Given the description of an element on the screen output the (x, y) to click on. 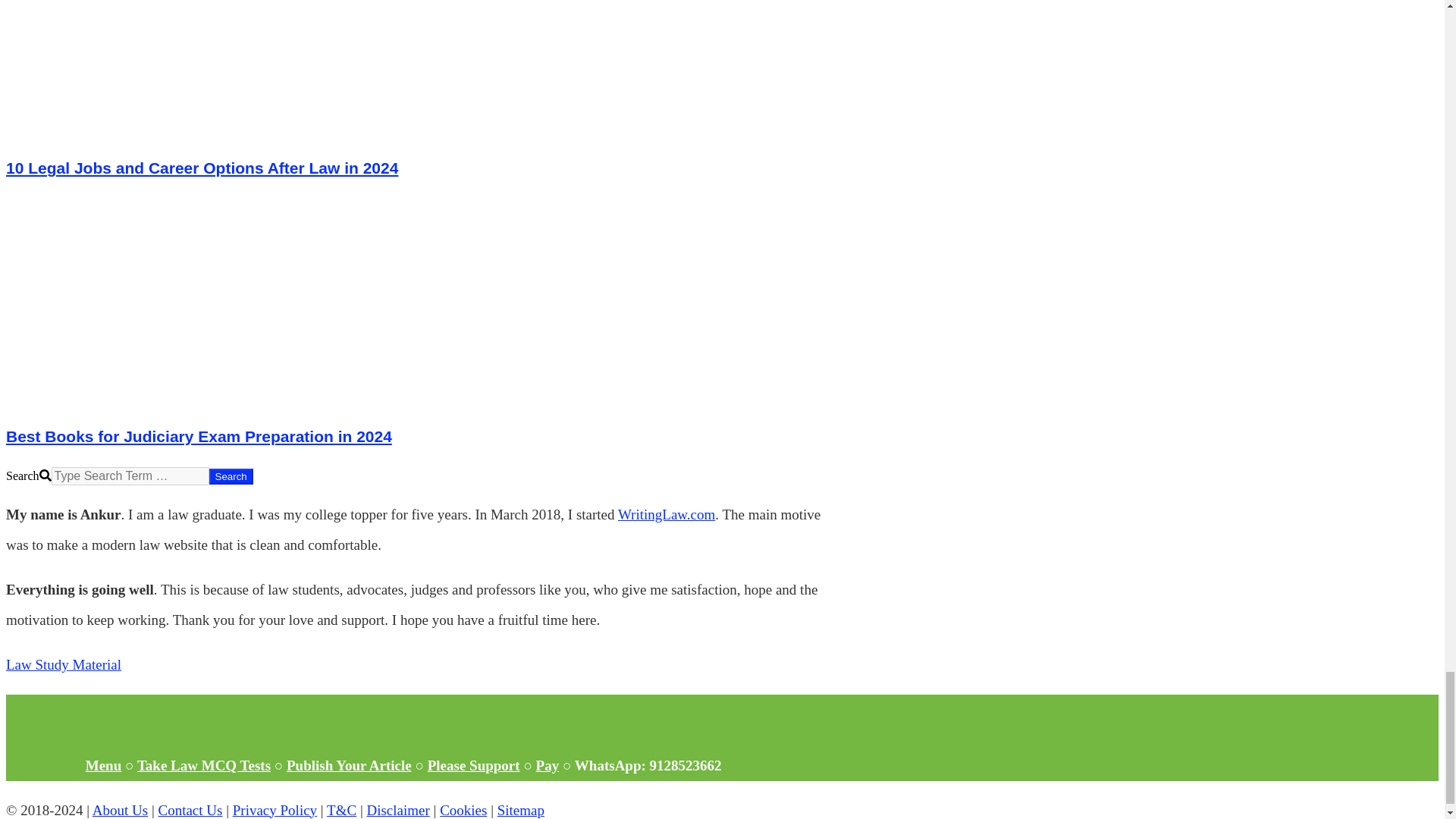
Search (231, 476)
